Given the description of an element on the screen output the (x, y) to click on. 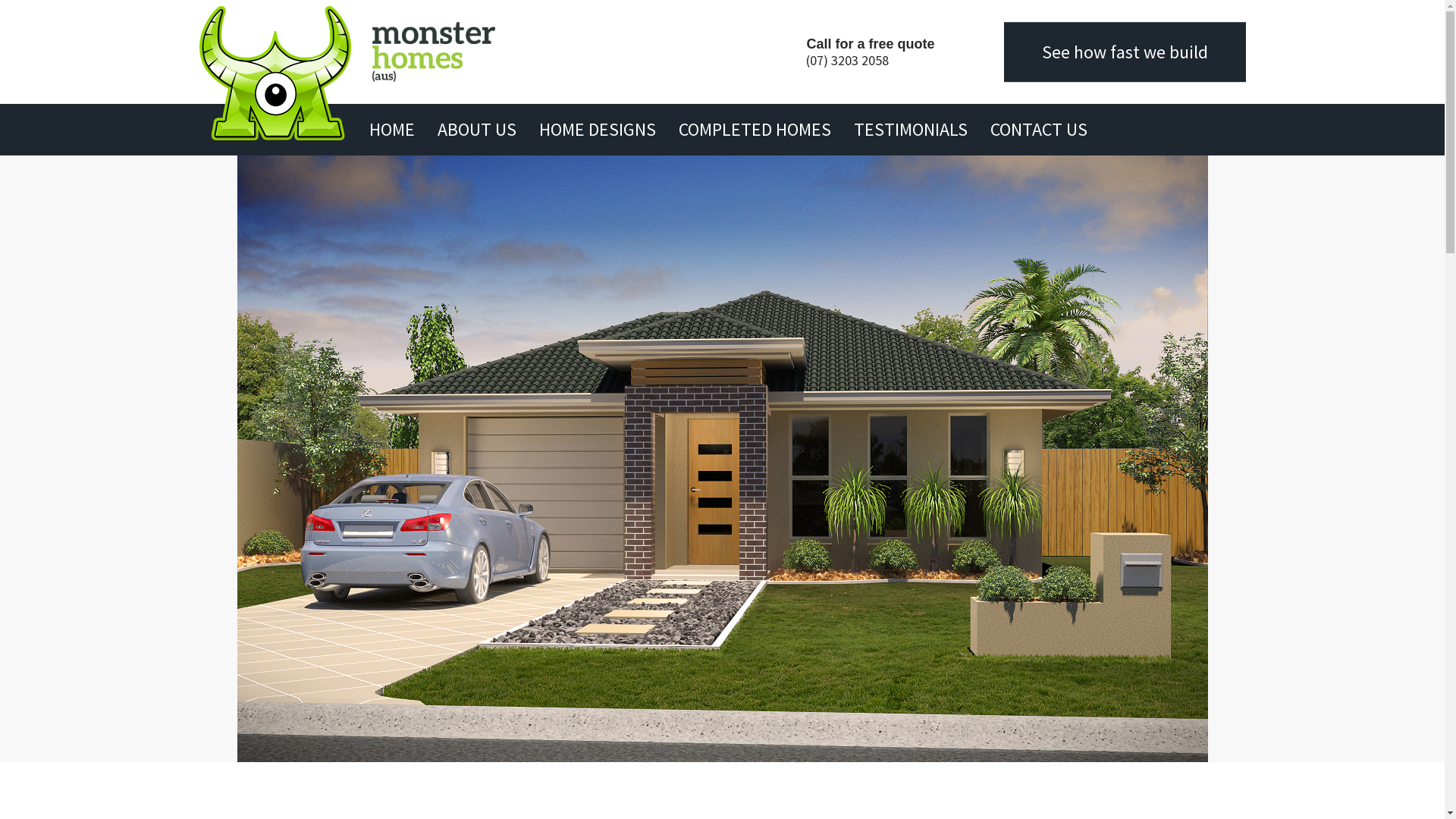
HOME DESIGNS Element type: text (596, 129)
See how fast we build Element type: text (1124, 51)
CONTACT US Element type: text (1038, 129)
COMPLETED HOMES Element type: text (753, 129)
ABOUT US Element type: text (475, 129)
TESTIMONIALS Element type: text (910, 129)
HOME Element type: text (391, 129)
